Given the description of an element on the screen output the (x, y) to click on. 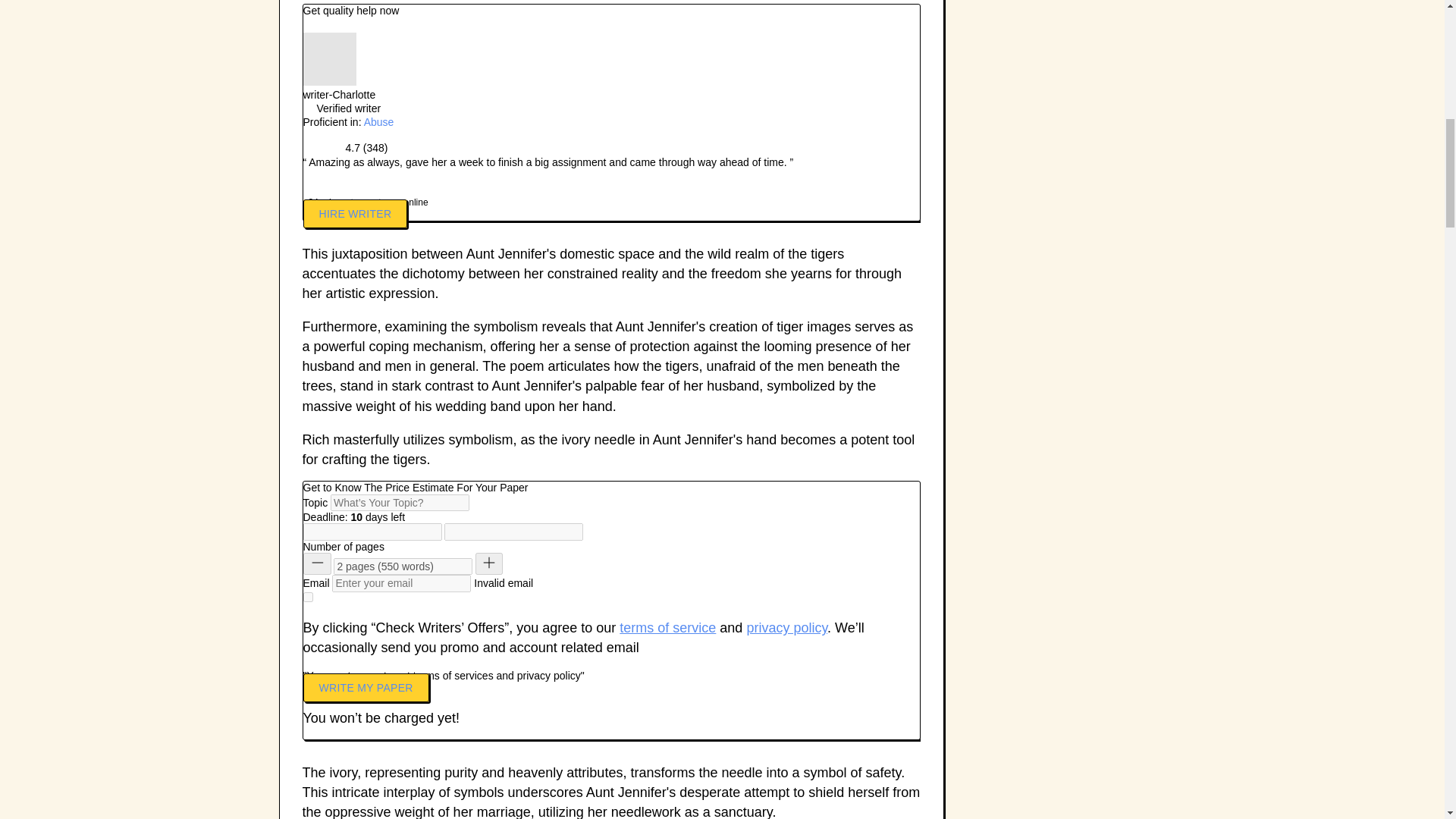
HIRE WRITER (354, 213)
Abuse (379, 121)
on (307, 596)
terms of service (668, 627)
privacy policy (786, 627)
WRITE MY PAPER (365, 687)
